Given the description of an element on the screen output the (x, y) to click on. 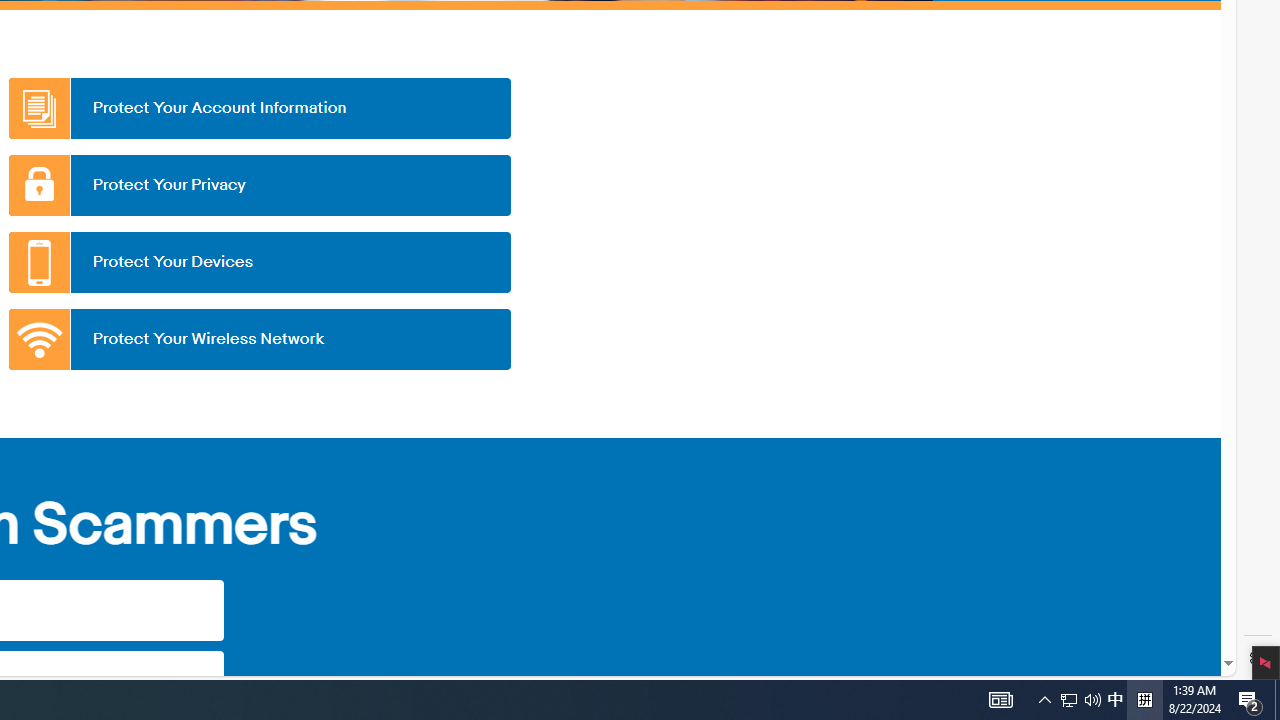
Protect Your Account Information (259, 107)
Protect Your Privacy (259, 185)
Protect Your Wireless Network (259, 339)
Protect Your Devices (259, 262)
